Given the description of an element on the screen output the (x, y) to click on. 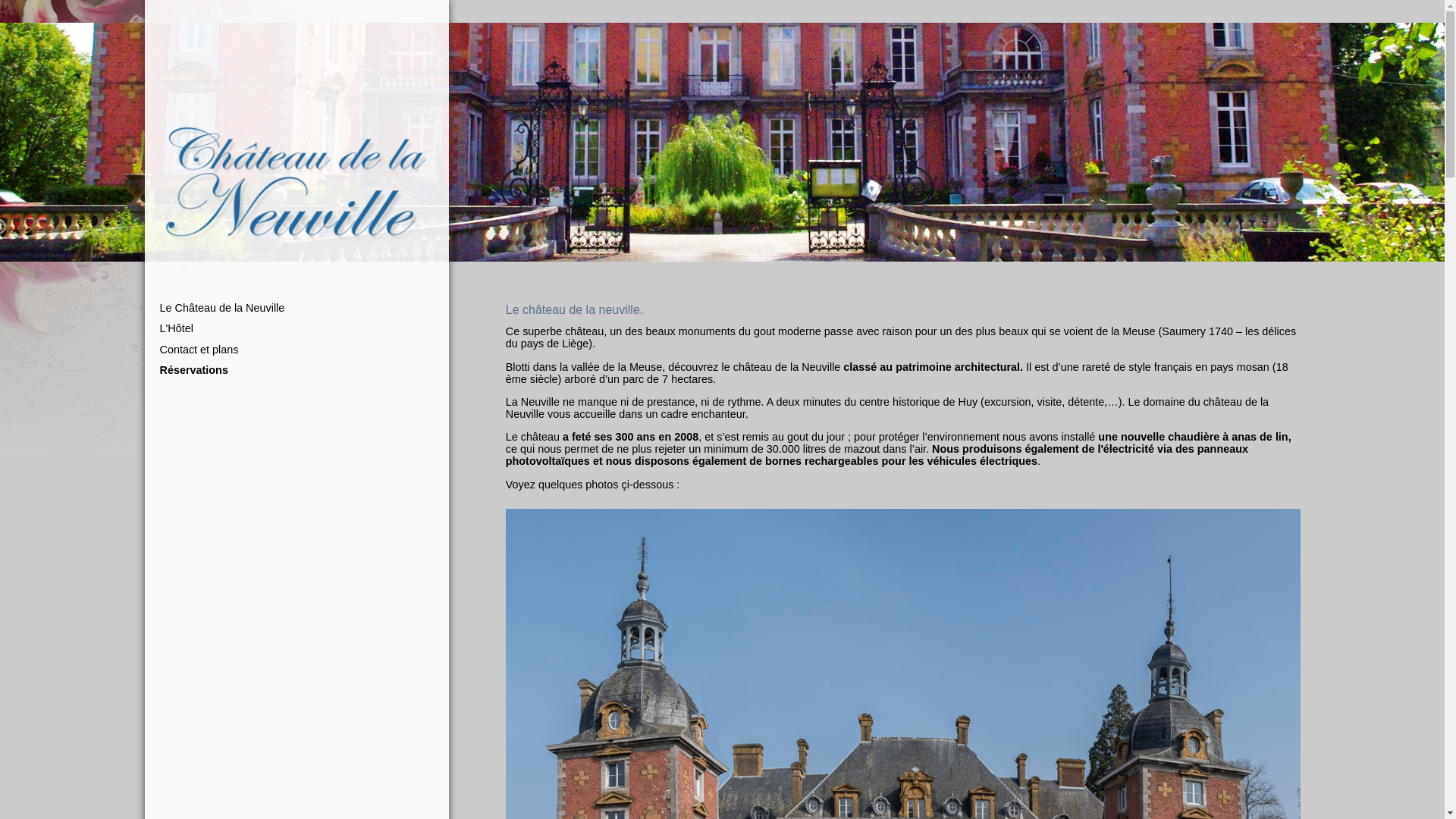
Contact et plans Element type: text (315, 349)
